Given the description of an element on the screen output the (x, y) to click on. 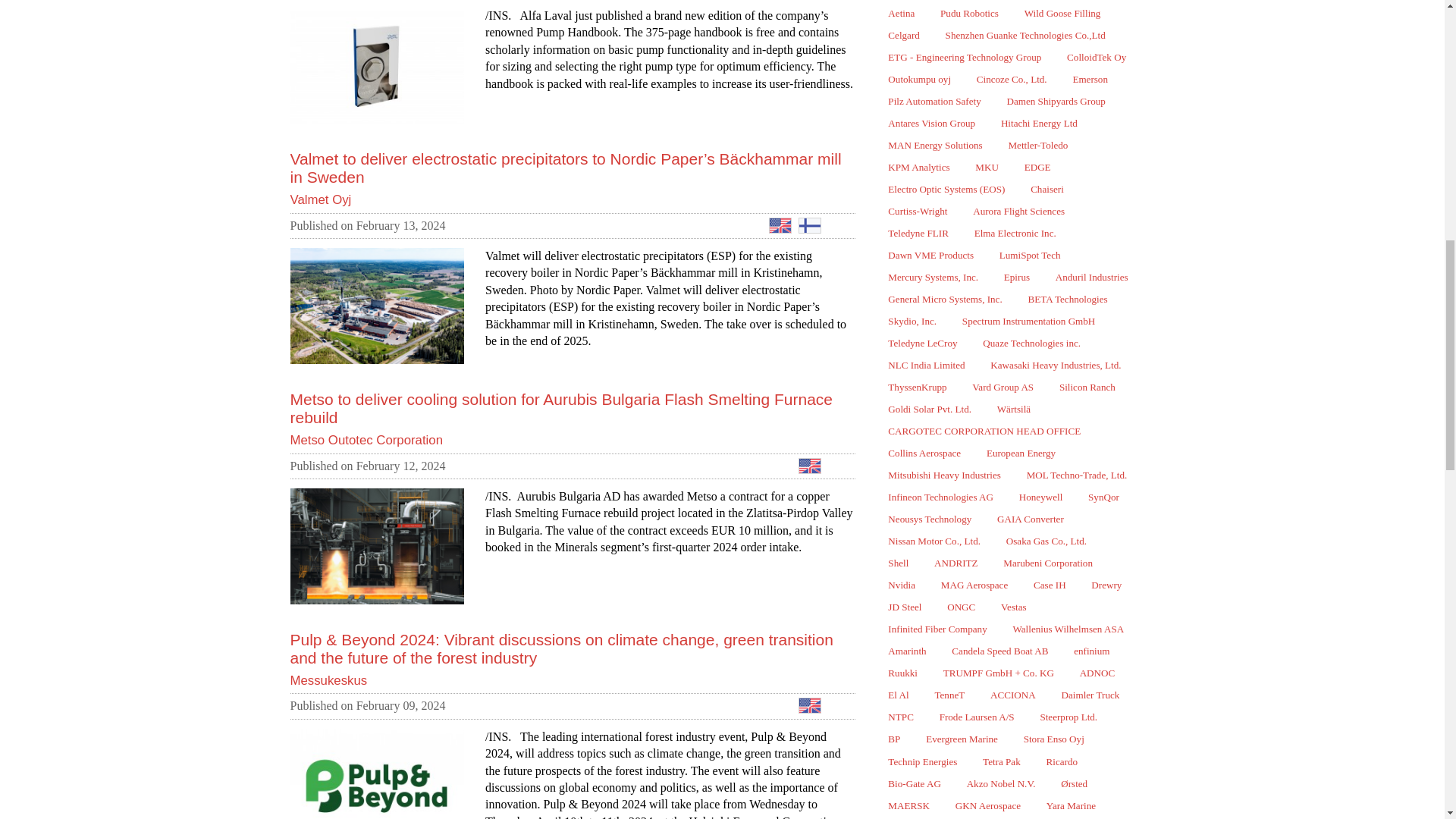
Valmet Oyj (322, 199)
